Given the description of an element on the screen output the (x, y) to click on. 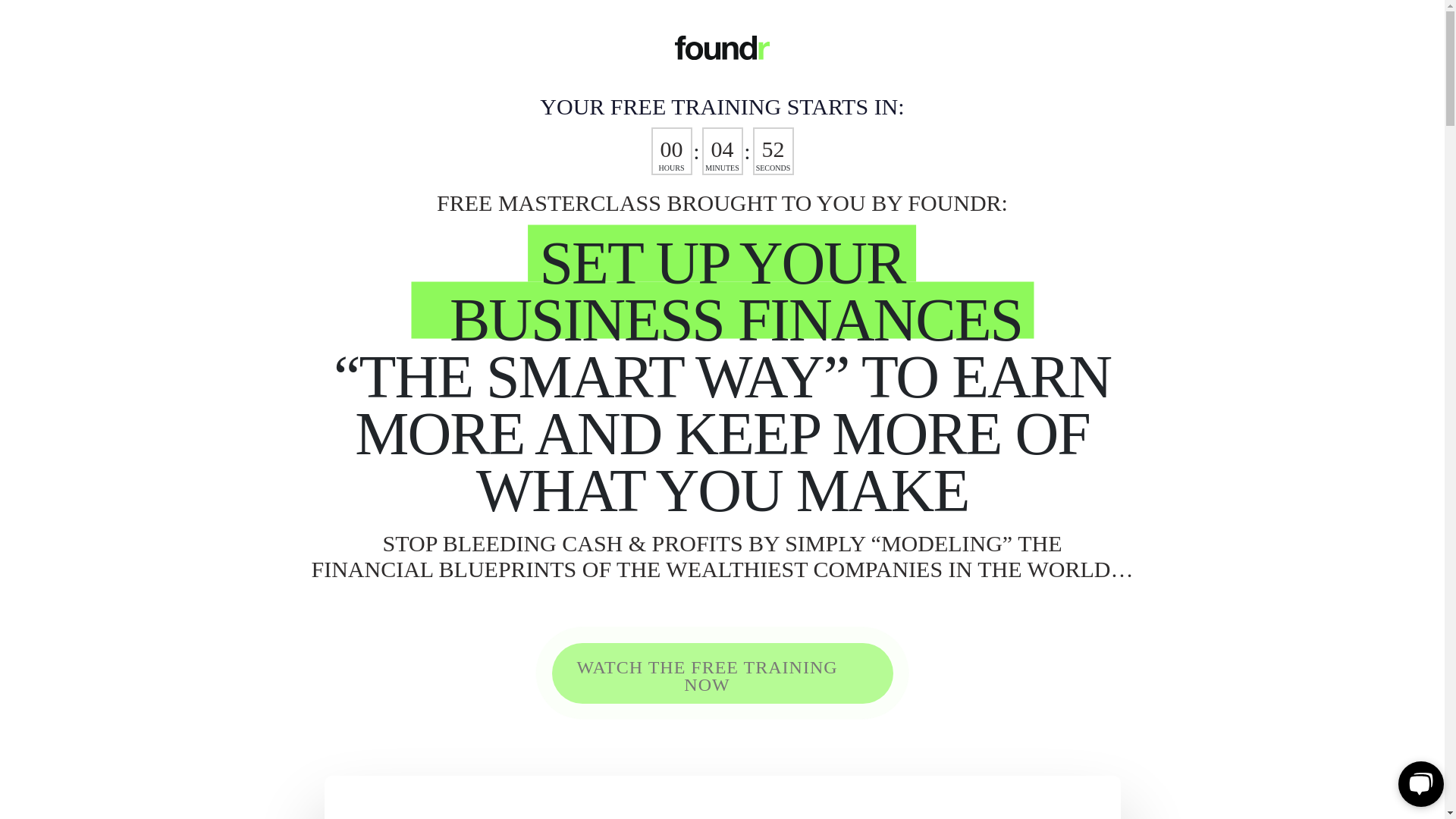
WATCH THE FREE TRAINING NOW (722, 672)
Chat Widget (1418, 782)
